Given the description of an element on the screen output the (x, y) to click on. 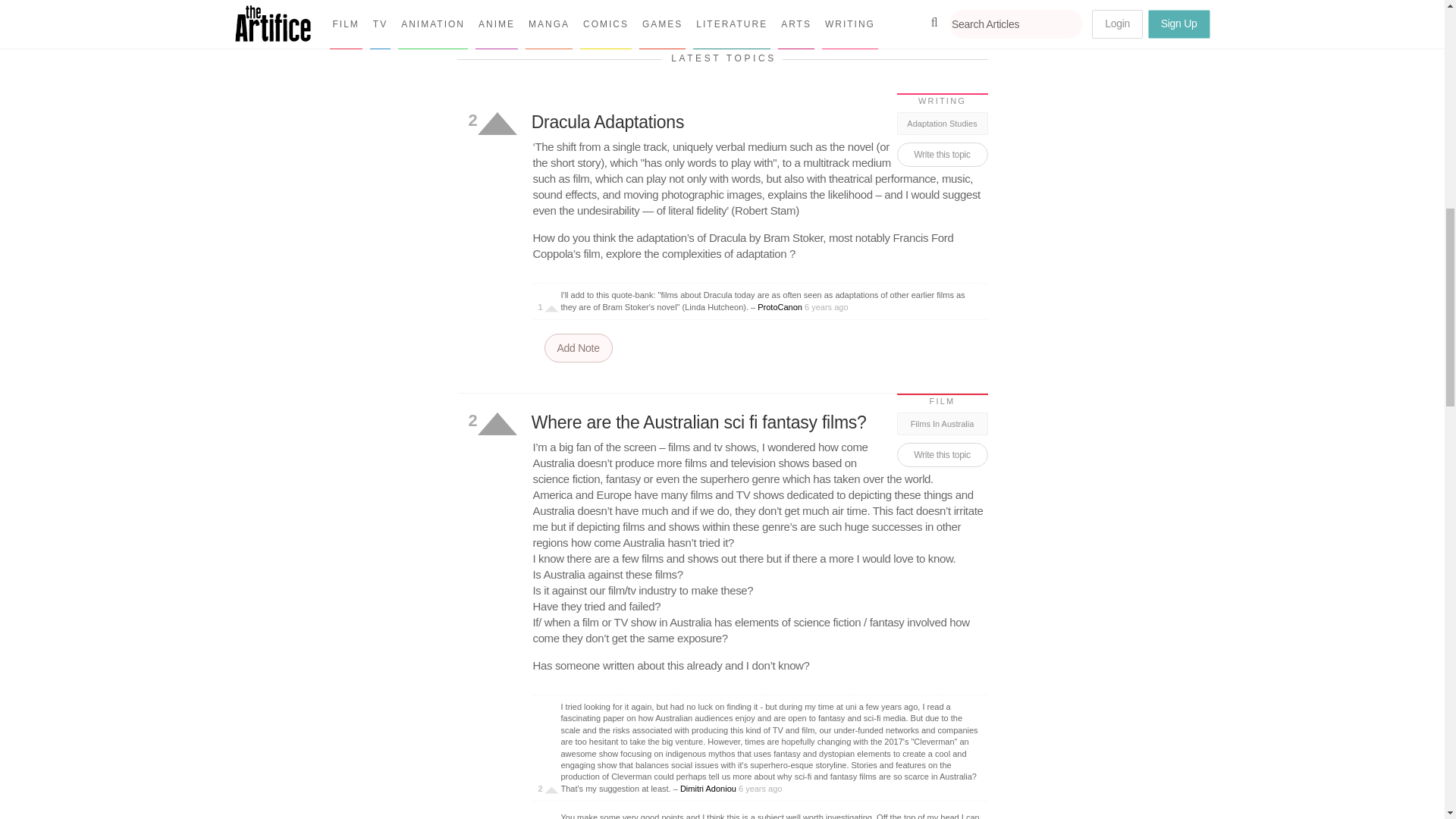
Register to write this topic (941, 454)
Adaptation Studies (941, 123)
Visit topic page (758, 422)
Register to write this topic (941, 154)
Visit topic page (758, 122)
Dracula Adaptations (758, 122)
ProtoCanon (779, 307)
Write this topic (941, 154)
